Given the description of an element on the screen output the (x, y) to click on. 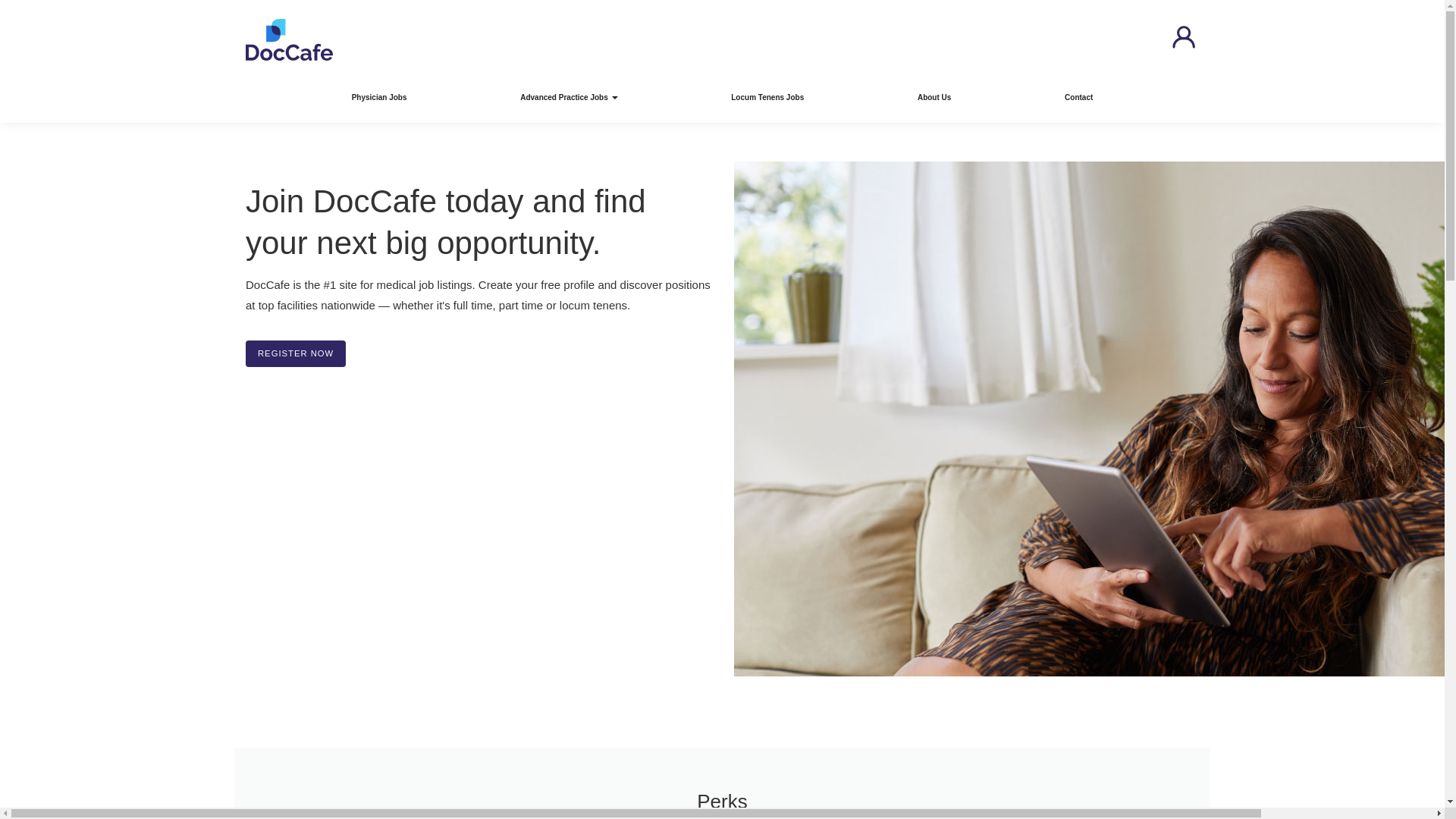
Locum Tenens Jobs (766, 97)
Advanced Practice Jobs (568, 97)
REGISTER NOW (296, 353)
About Us (934, 97)
Physician Jobs (378, 97)
Contact (1078, 97)
